Given the description of an element on the screen output the (x, y) to click on. 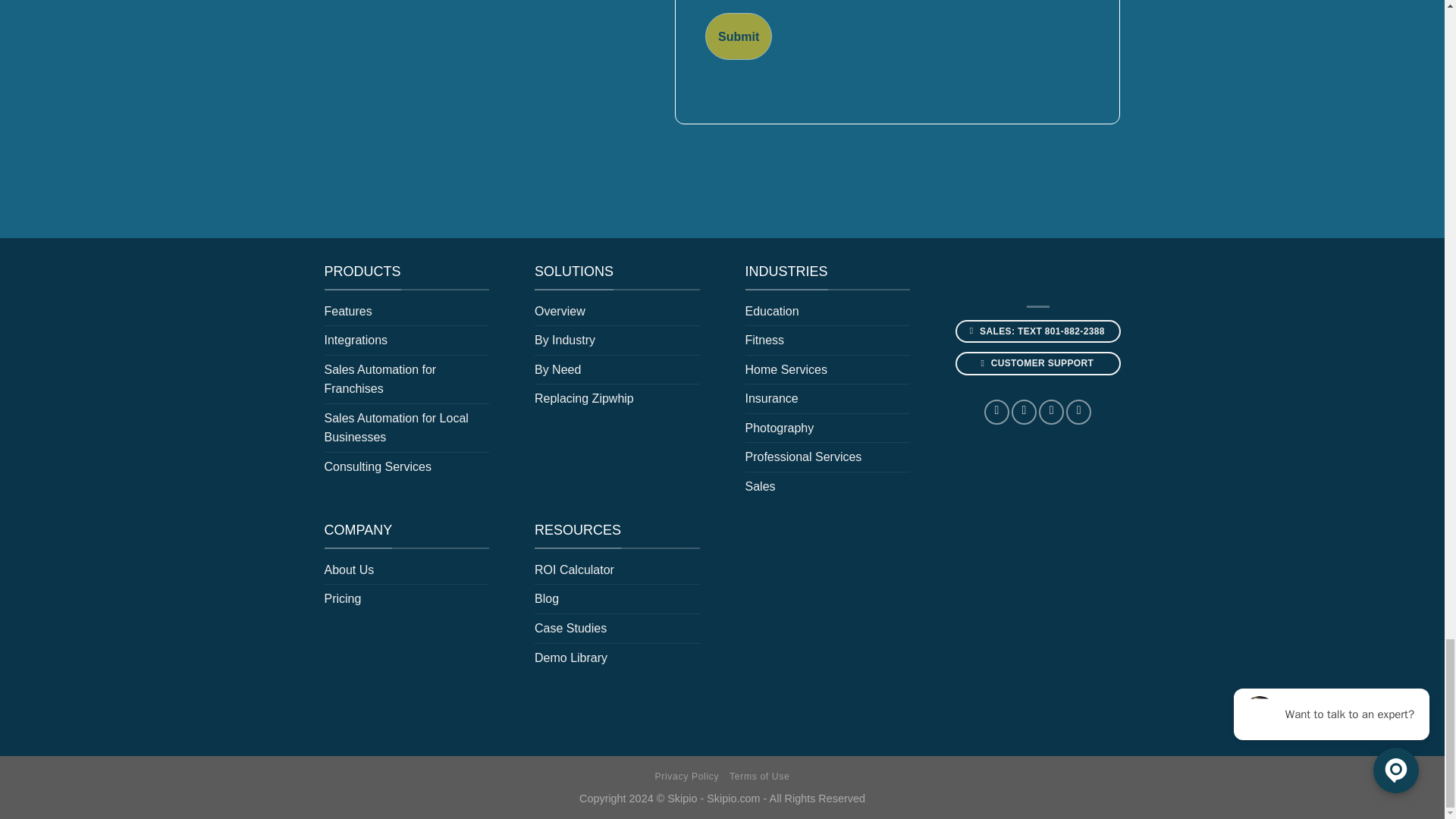
Submit (737, 36)
Follow on Facebook (996, 412)
Follow on LinkedIn (1051, 412)
Follow on YouTube (1077, 412)
Follow on Instagram (1023, 412)
